Given the description of an element on the screen output the (x, y) to click on. 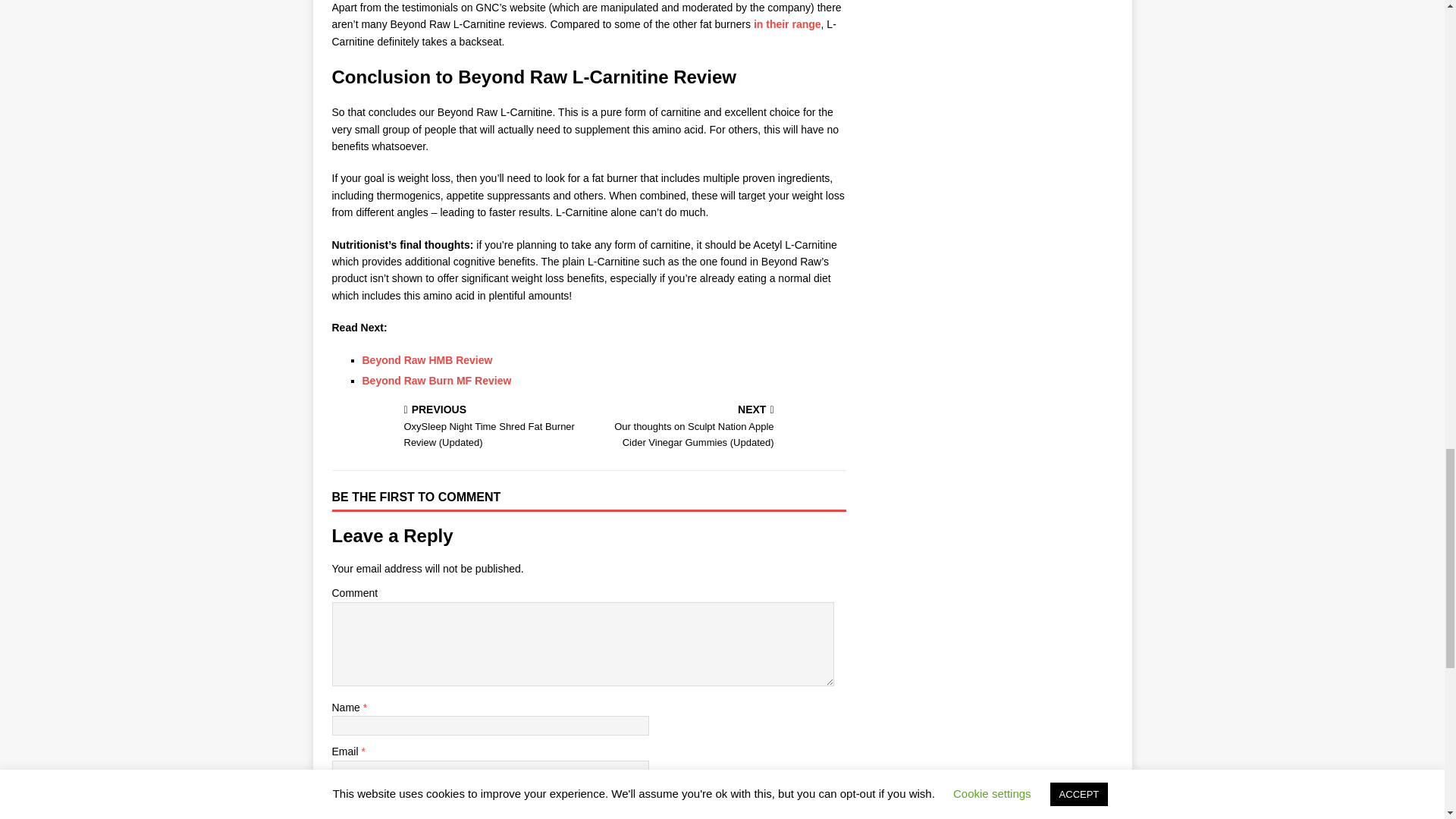
Beyond Raw Burn MF Review (437, 380)
Beyond Raw HMB Review (427, 359)
in their range (786, 24)
